Given the description of an element on the screen output the (x, y) to click on. 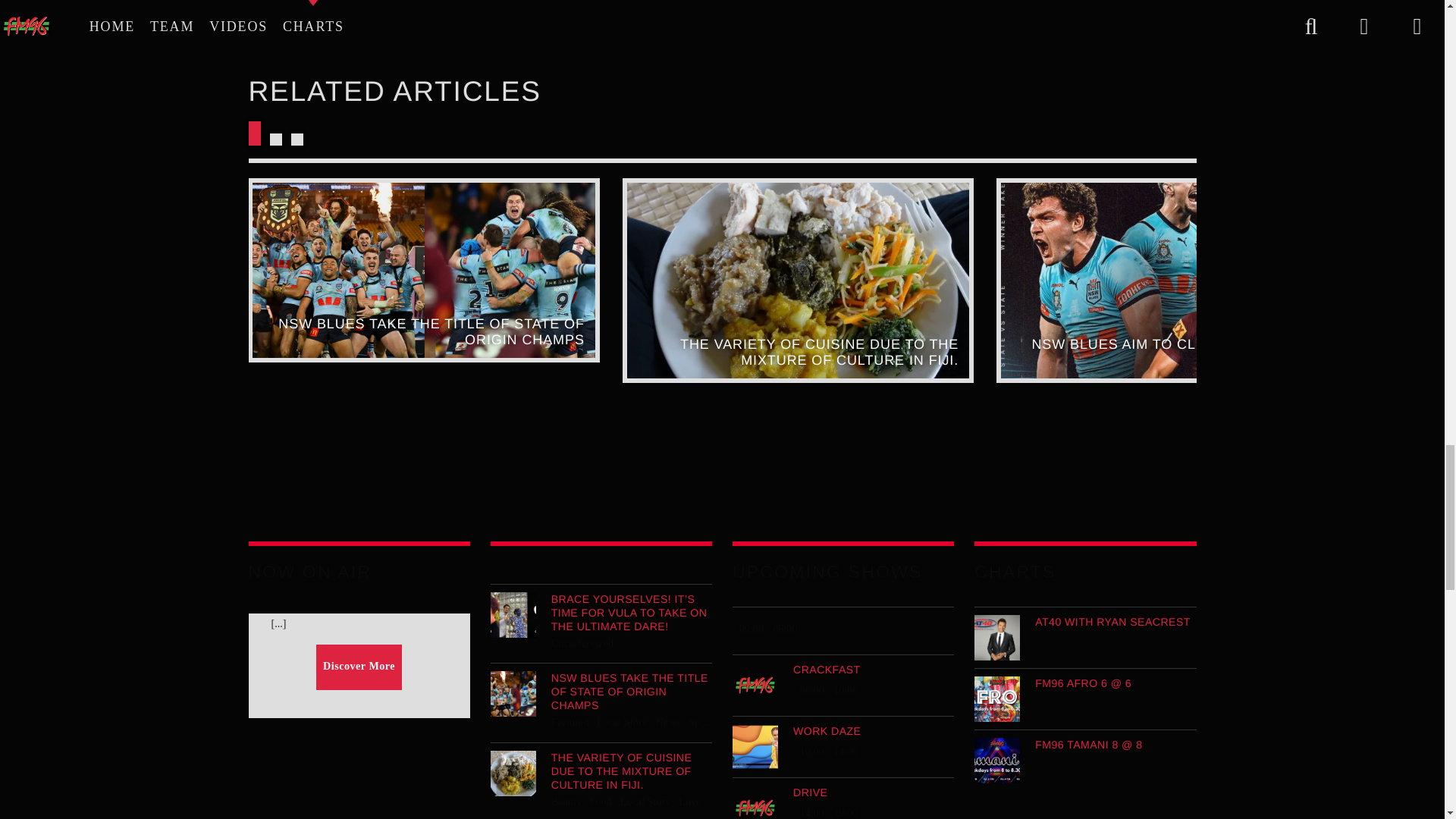
Read More about Crackfast (842, 669)
